Given the description of an element on the screen output the (x, y) to click on. 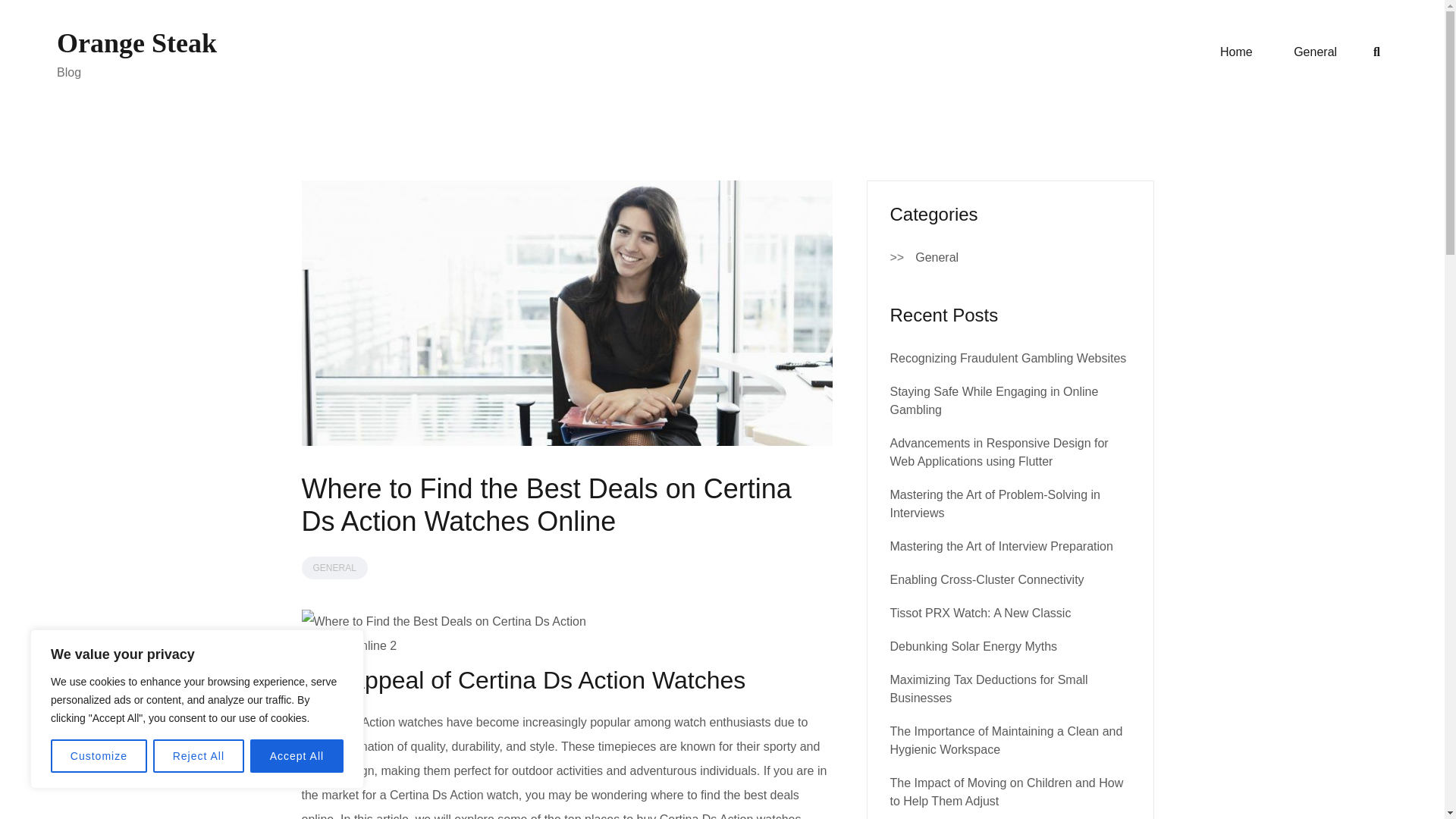
Home (1236, 52)
Recognizing Fraudulent Gambling Websites (1007, 358)
Staying Safe While Engaging in Online Gambling (994, 400)
Accept All (296, 756)
Mastering the Art of Interview Preparation (1001, 545)
Customize (98, 756)
General (936, 257)
Reject All (198, 756)
General (1315, 52)
Orange Steak (136, 42)
GENERAL (334, 567)
Mastering the Art of Problem-Solving in Interviews (994, 503)
